Given the description of an element on the screen output the (x, y) to click on. 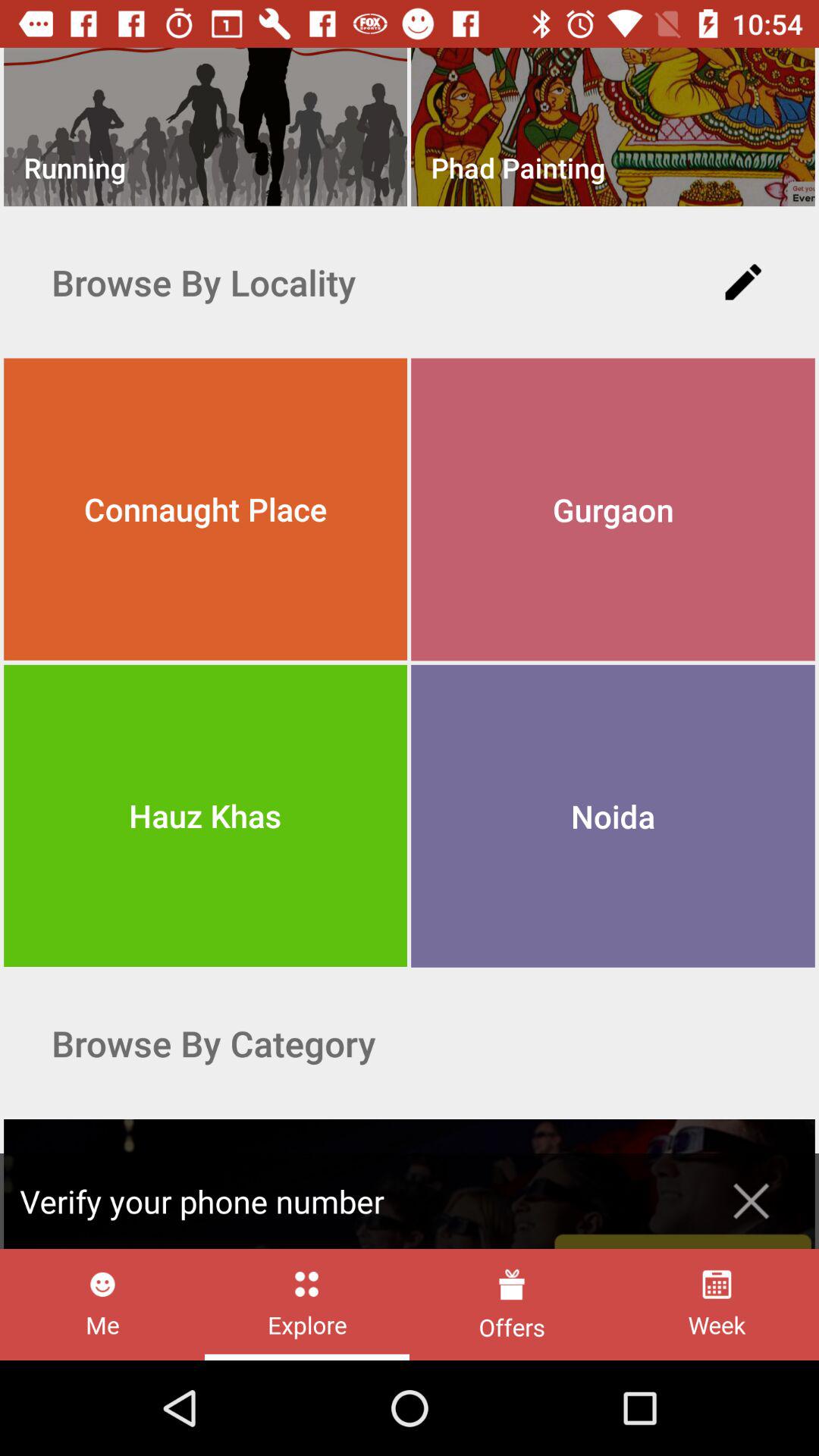
launch the item next to the browse by locality (743, 281)
